Given the description of an element on the screen output the (x, y) to click on. 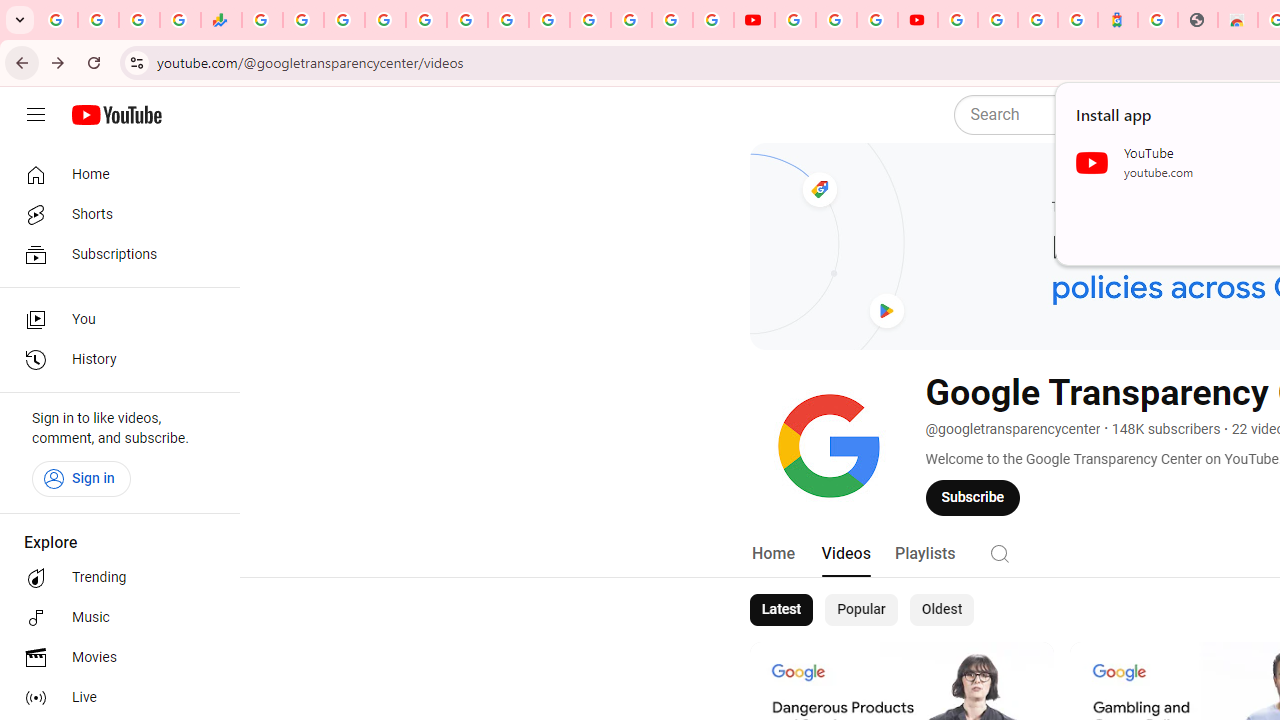
YouTube (753, 20)
YouTube (795, 20)
History (113, 359)
Chrome Web Store - Household (1238, 20)
